Given the description of an element on the screen output the (x, y) to click on. 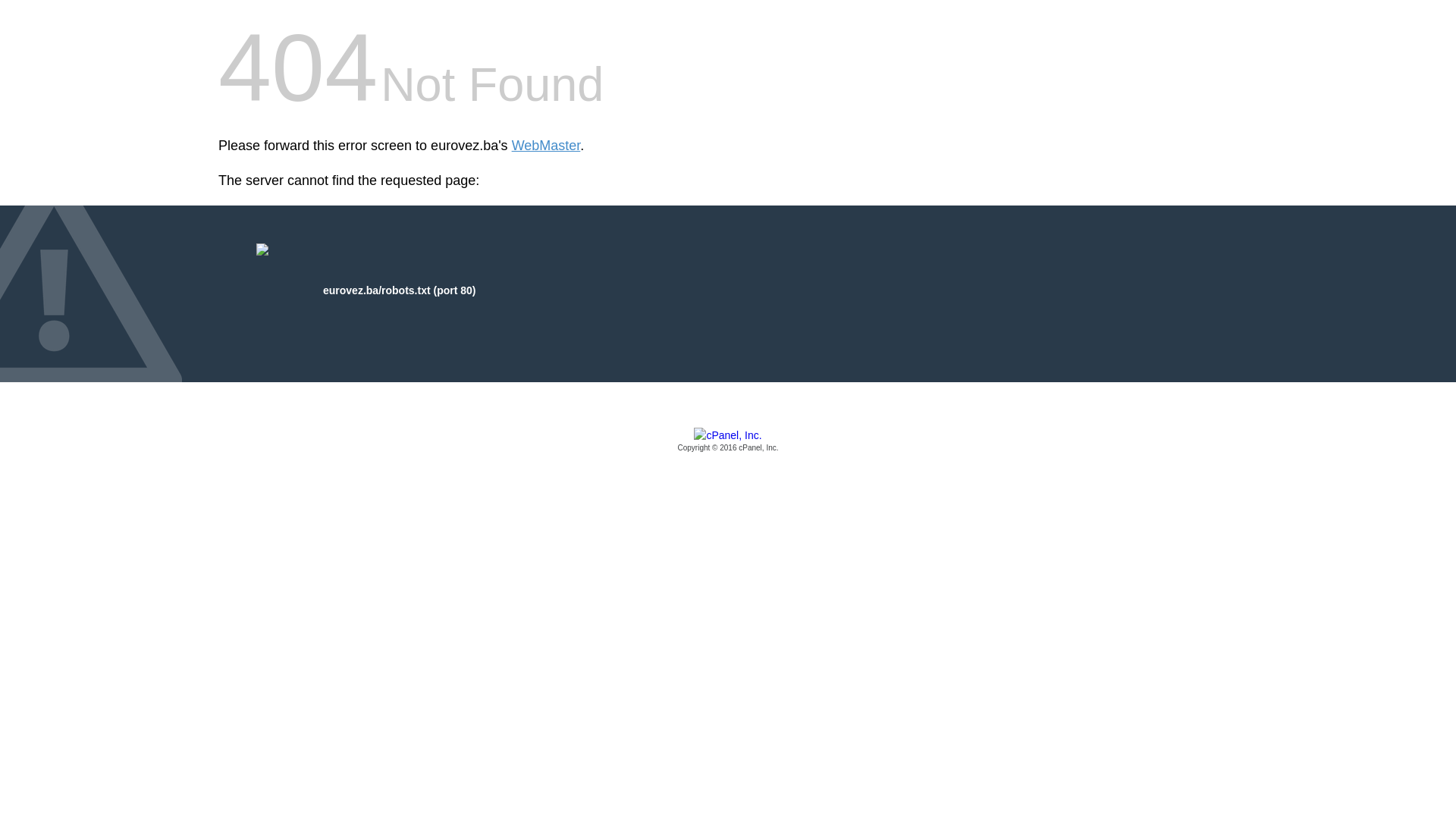
WebMaster Element type: text (545, 145)
